Given the description of an element on the screen output the (x, y) to click on. 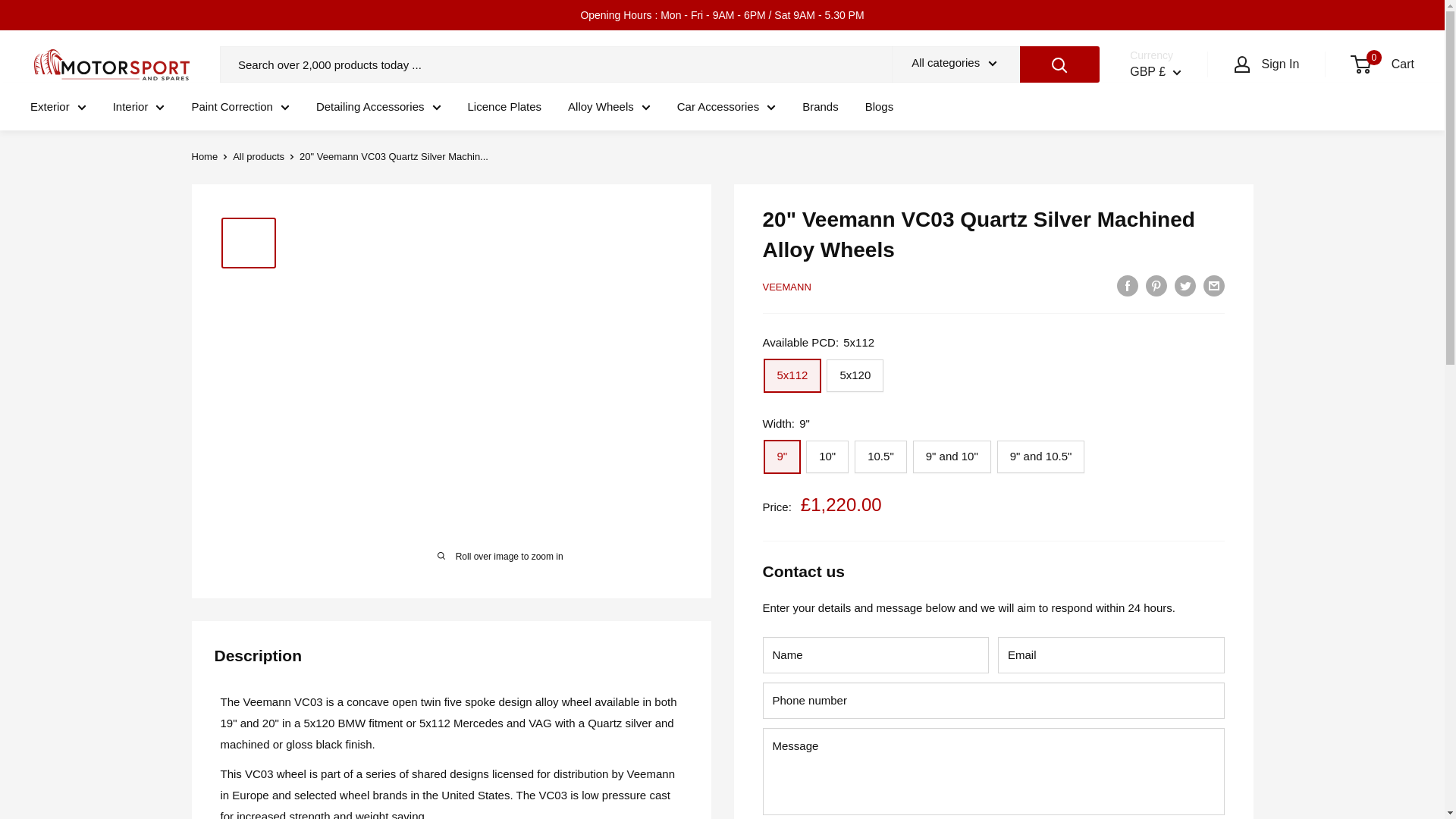
9" and 10" (951, 456)
10.5" (880, 456)
5x120 (855, 375)
10" (827, 456)
5x112 (792, 375)
9" and 10.5" (1040, 456)
9" (782, 456)
